Given the description of an element on the screen output the (x, y) to click on. 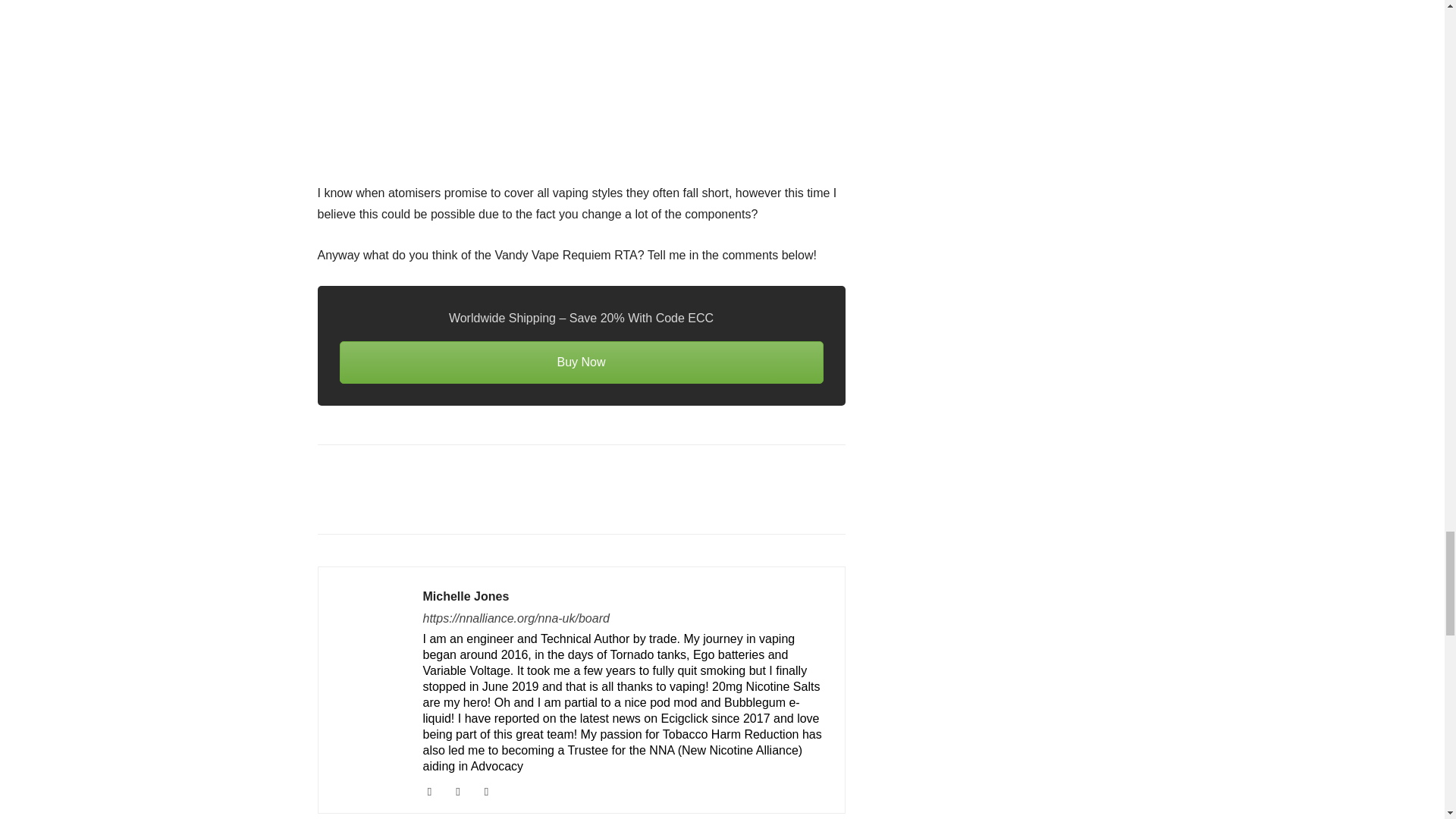
bottomFacebookLike (430, 468)
